Given the description of an element on the screen output the (x, y) to click on. 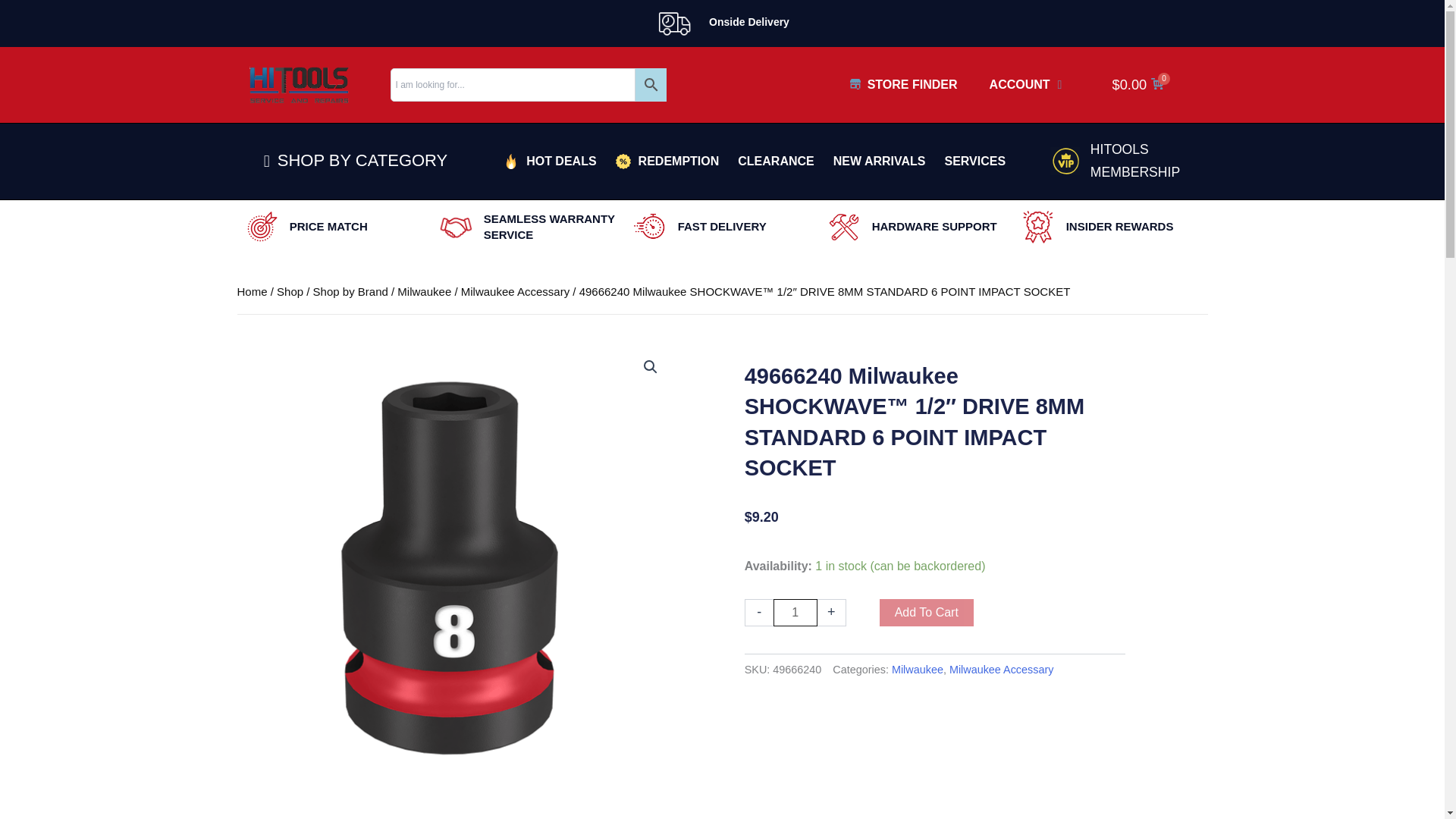
STORE FINDER (903, 84)
SERVICES (975, 160)
1 (794, 612)
HITOOLS MEMBERSHIP (1134, 160)
HOT DEALS (549, 160)
ACCOUNT (1025, 84)
REDEMPTION (667, 160)
CLEARANCE (775, 160)
NEW ARRIVALS (879, 160)
